Given the description of an element on the screen output the (x, y) to click on. 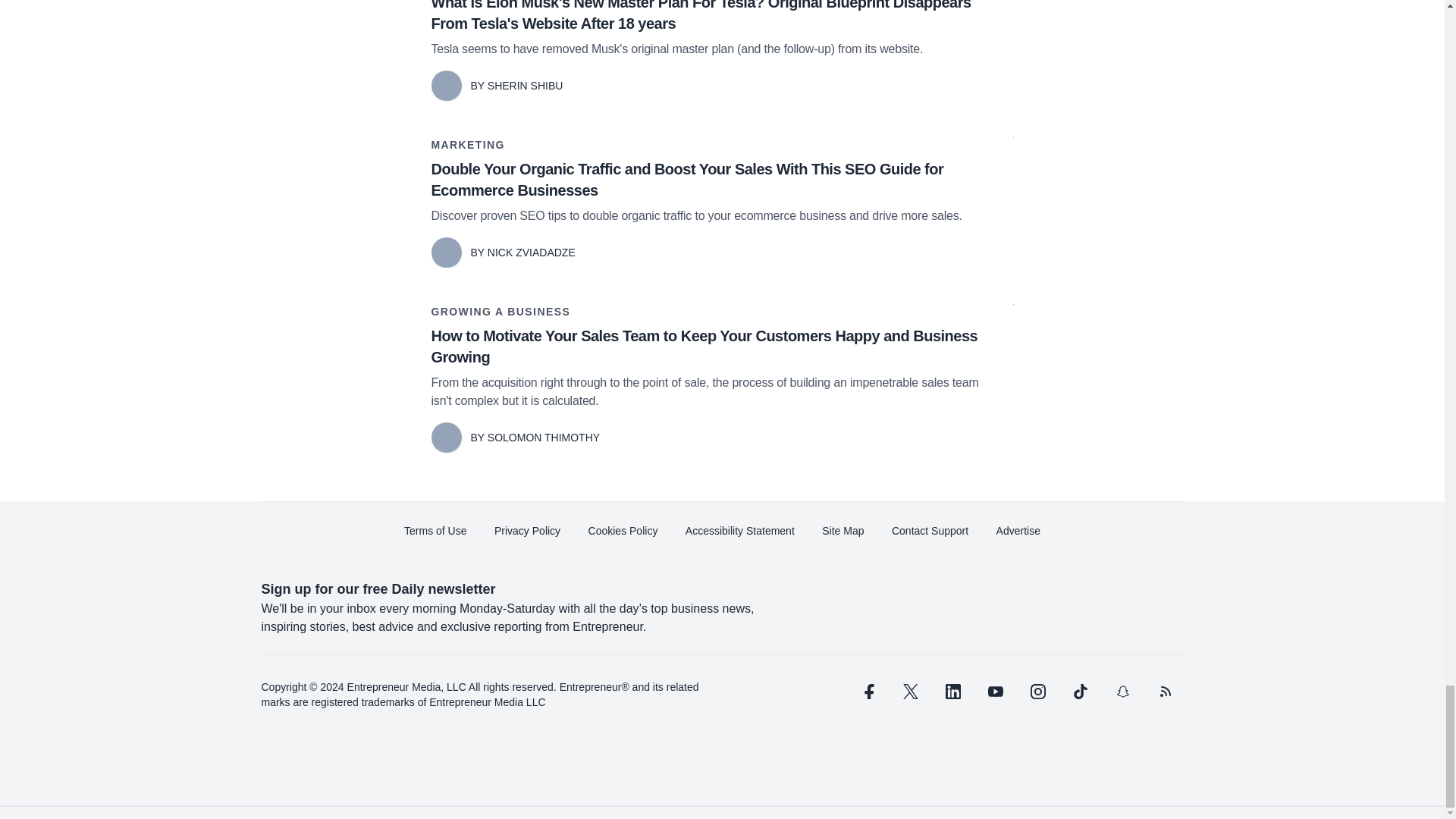
facebook (866, 691)
linkedin (952, 691)
tiktok (1079, 691)
instagram (1037, 691)
youtube (994, 691)
snapchat (1121, 691)
twitter (909, 691)
